Given the description of an element on the screen output the (x, y) to click on. 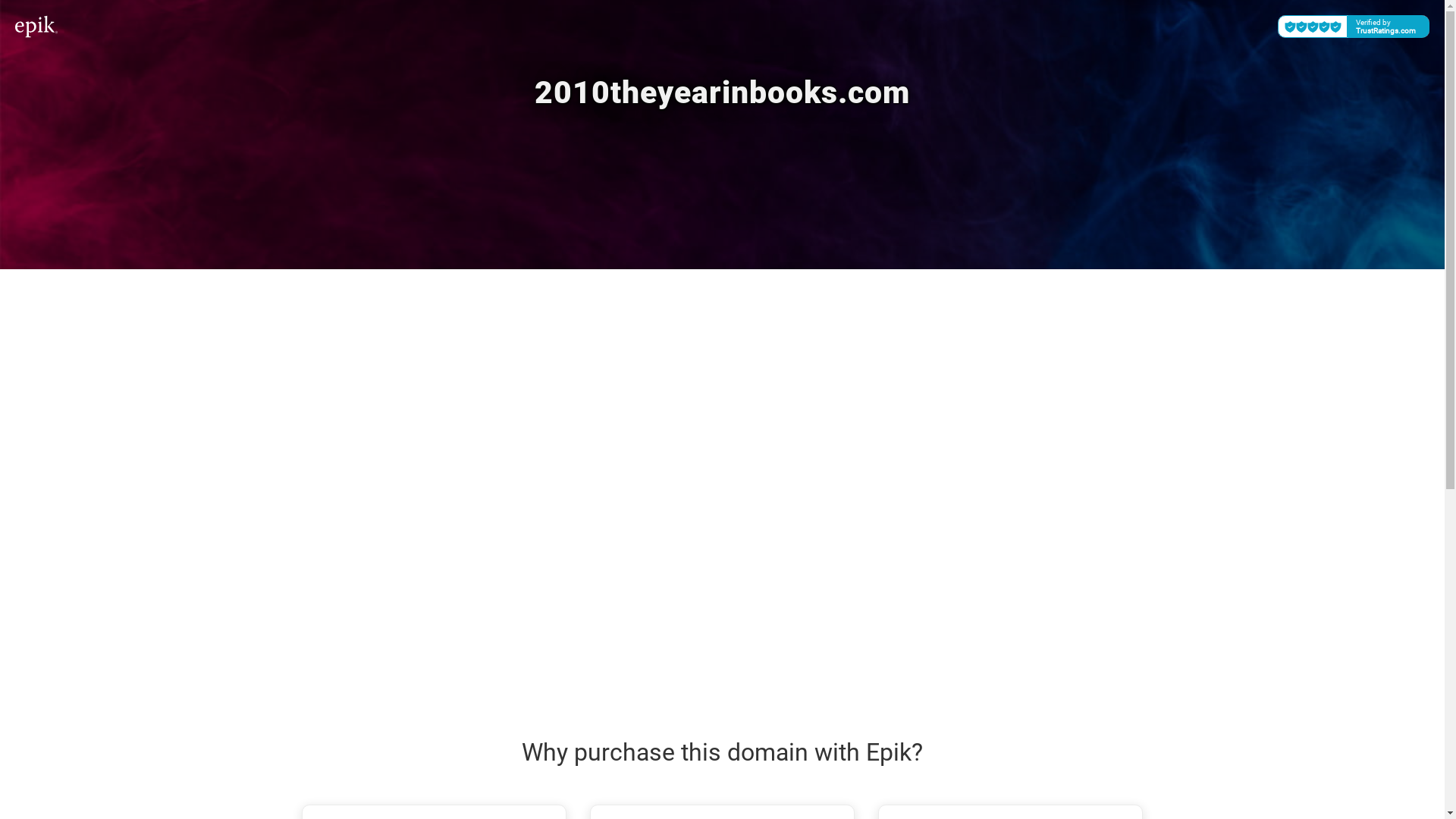
Verified by TrustRatings.com Element type: hover (1353, 26)
